Given the description of an element on the screen output the (x, y) to click on. 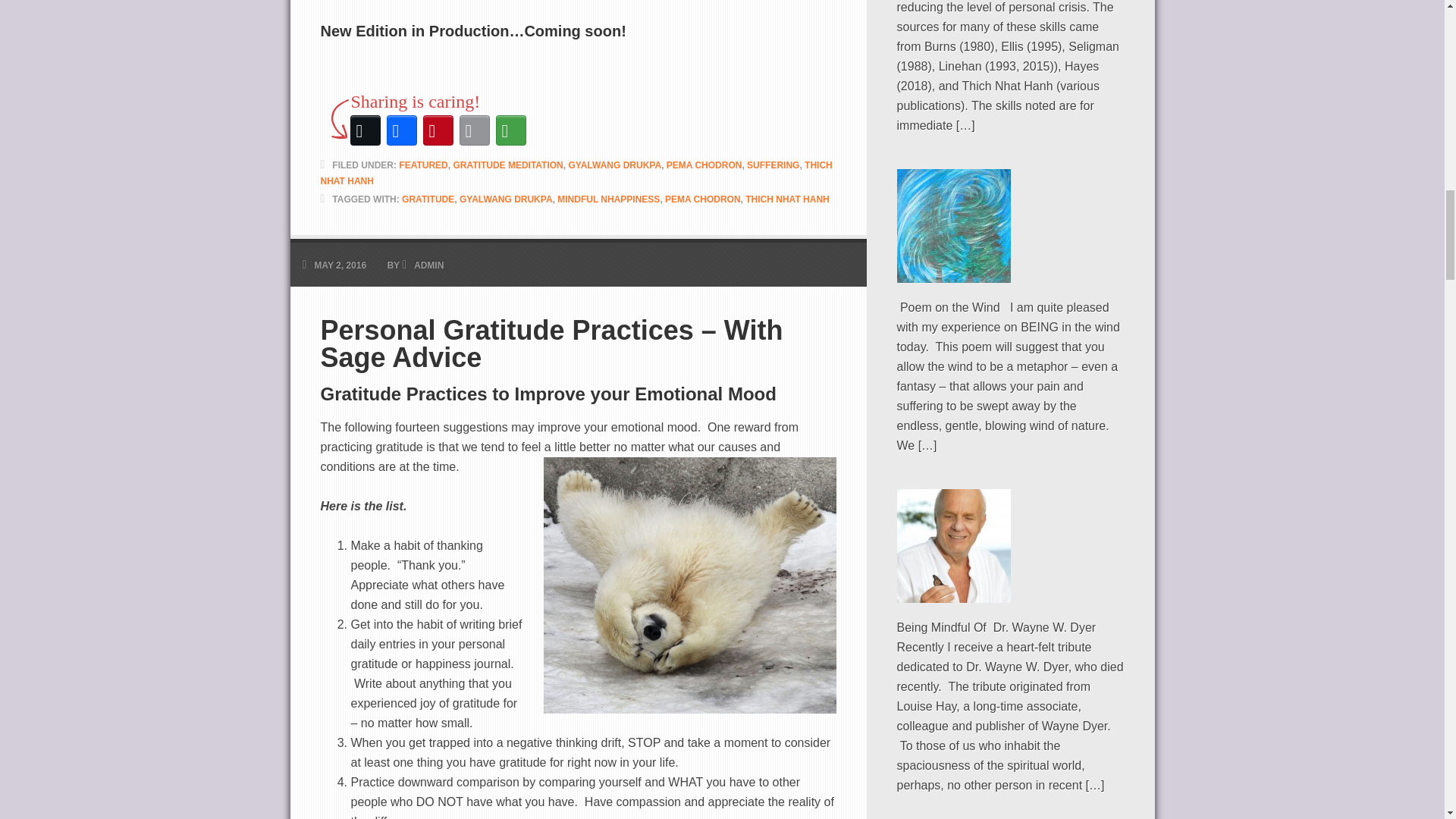
More Options (511, 130)
GRATITUDE (427, 199)
PEMA CHODRON (703, 199)
GRATITUDE MEDITATION (507, 164)
PEMA CHODRON (704, 164)
THICH NHAT HANH (575, 172)
MINDFUL NHAPPINESS (608, 199)
Facebook (402, 130)
SUFFERING (772, 164)
Email This (475, 130)
ADMIN (428, 265)
GYALWANG DRUKPA (614, 164)
THICH NHAT HANH (786, 199)
Pinterest (438, 130)
FEATURED (422, 164)
